Given the description of an element on the screen output the (x, y) to click on. 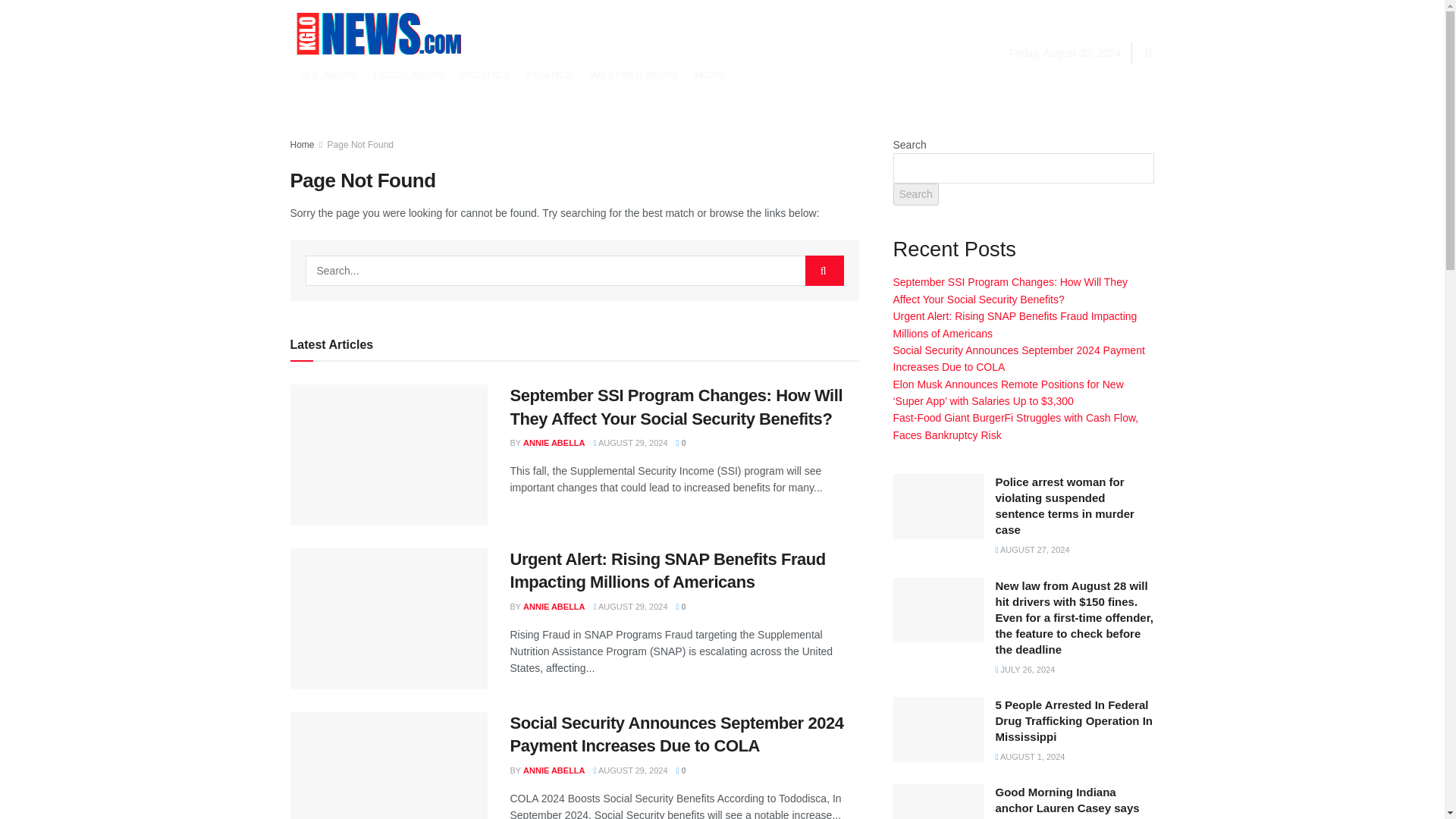
LOCAL NEWS (408, 74)
0 (681, 605)
AUGUST 29, 2024 (631, 605)
Page Not Found (360, 144)
MORE (713, 74)
ANNIE ABELLA (553, 442)
ANNIE ABELLA (553, 605)
WEATHER NEWS (633, 74)
